Given the description of an element on the screen output the (x, y) to click on. 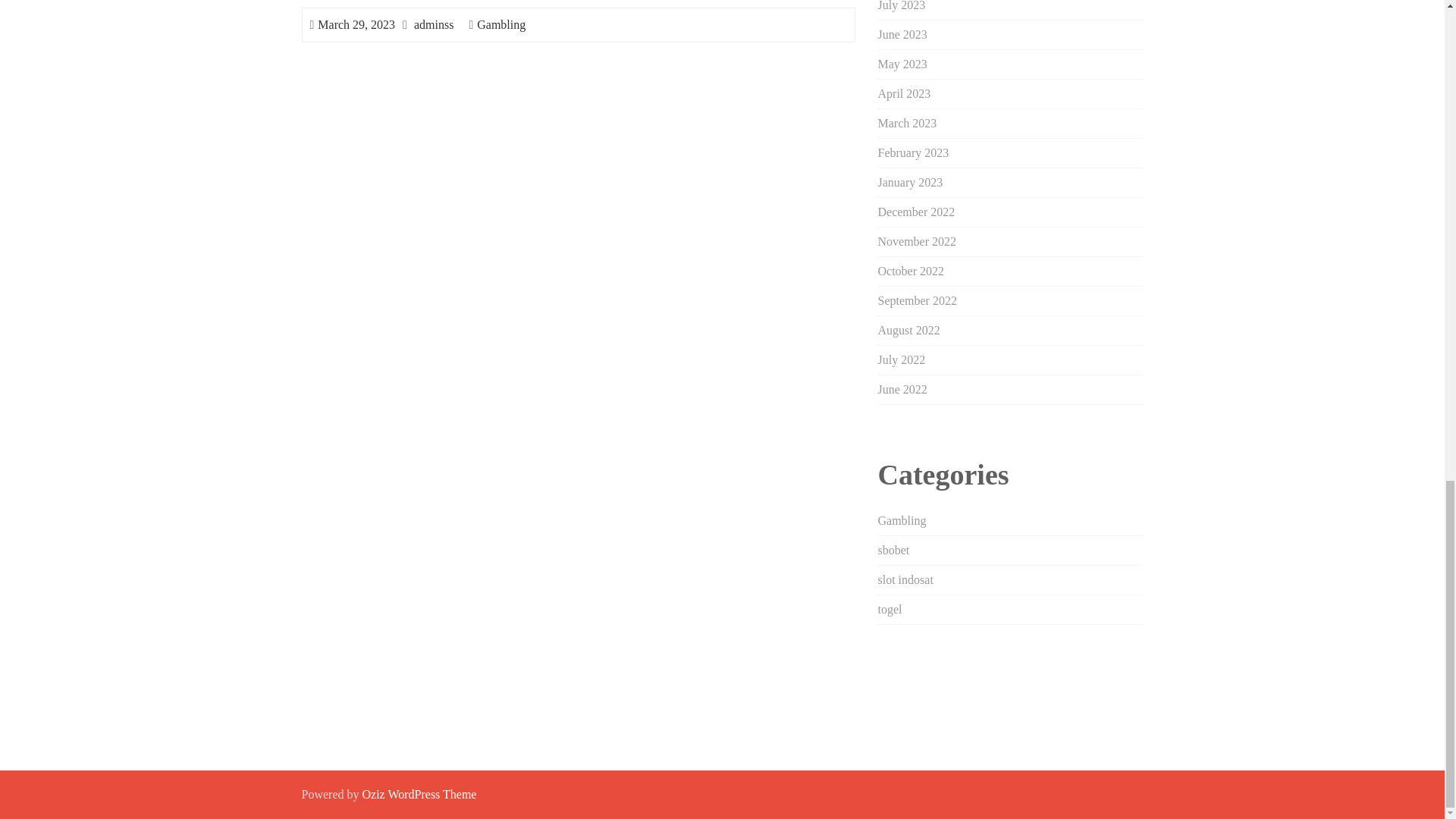
March 2023 (907, 123)
August 2022 (908, 329)
September 2022 (916, 300)
Gambling (501, 24)
November 2022 (916, 241)
July 2023 (901, 5)
October 2022 (910, 270)
December 2022 (916, 211)
May 2023 (902, 63)
January 2023 (910, 182)
June 2023 (902, 33)
adminss (432, 24)
July 2022 (901, 359)
February 2023 (913, 152)
March 29, 2023 (355, 24)
